Given the description of an element on the screen output the (x, y) to click on. 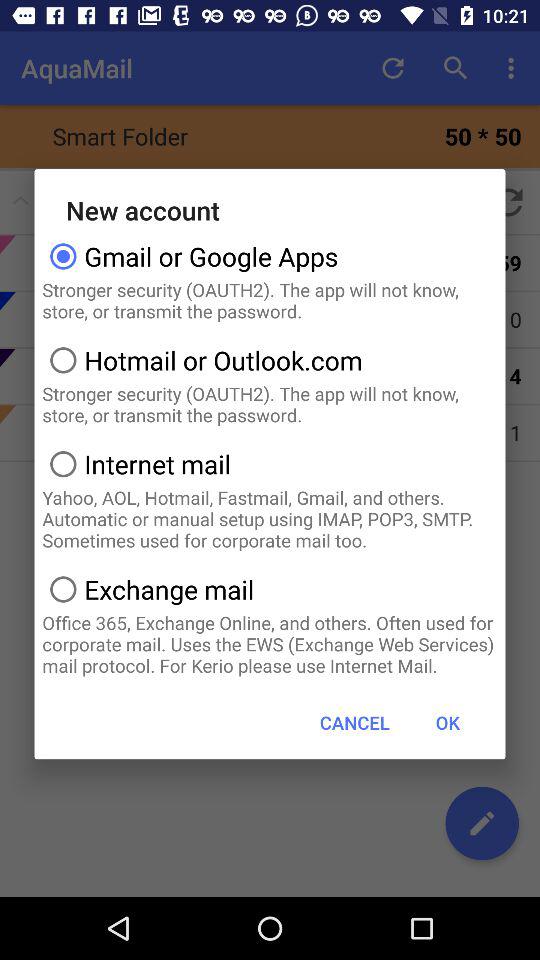
tap the icon to the left of ok (354, 722)
